Given the description of an element on the screen output the (x, y) to click on. 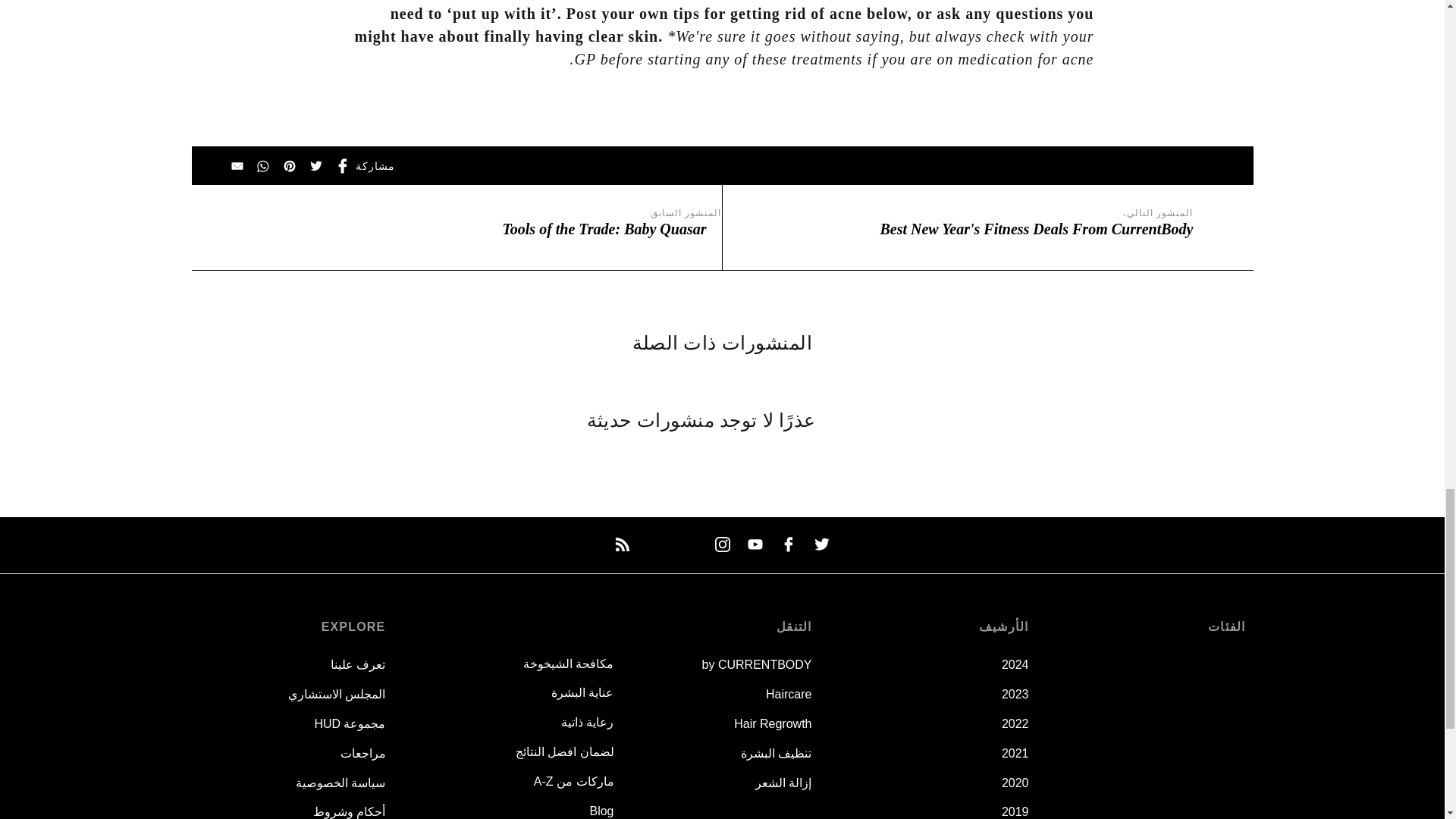
2019 (1015, 811)
TWITTER (821, 544)
FACEBOOK (788, 544)
INSTAGRAM (721, 544)
2022 (1015, 723)
2021 (1015, 753)
2024 (1015, 664)
RSS (622, 544)
2020 (1015, 782)
YOUTUBE (755, 544)
WECHAT (689, 544)
WEIBO (655, 544)
2023 (1015, 694)
